Given the description of an element on the screen output the (x, y) to click on. 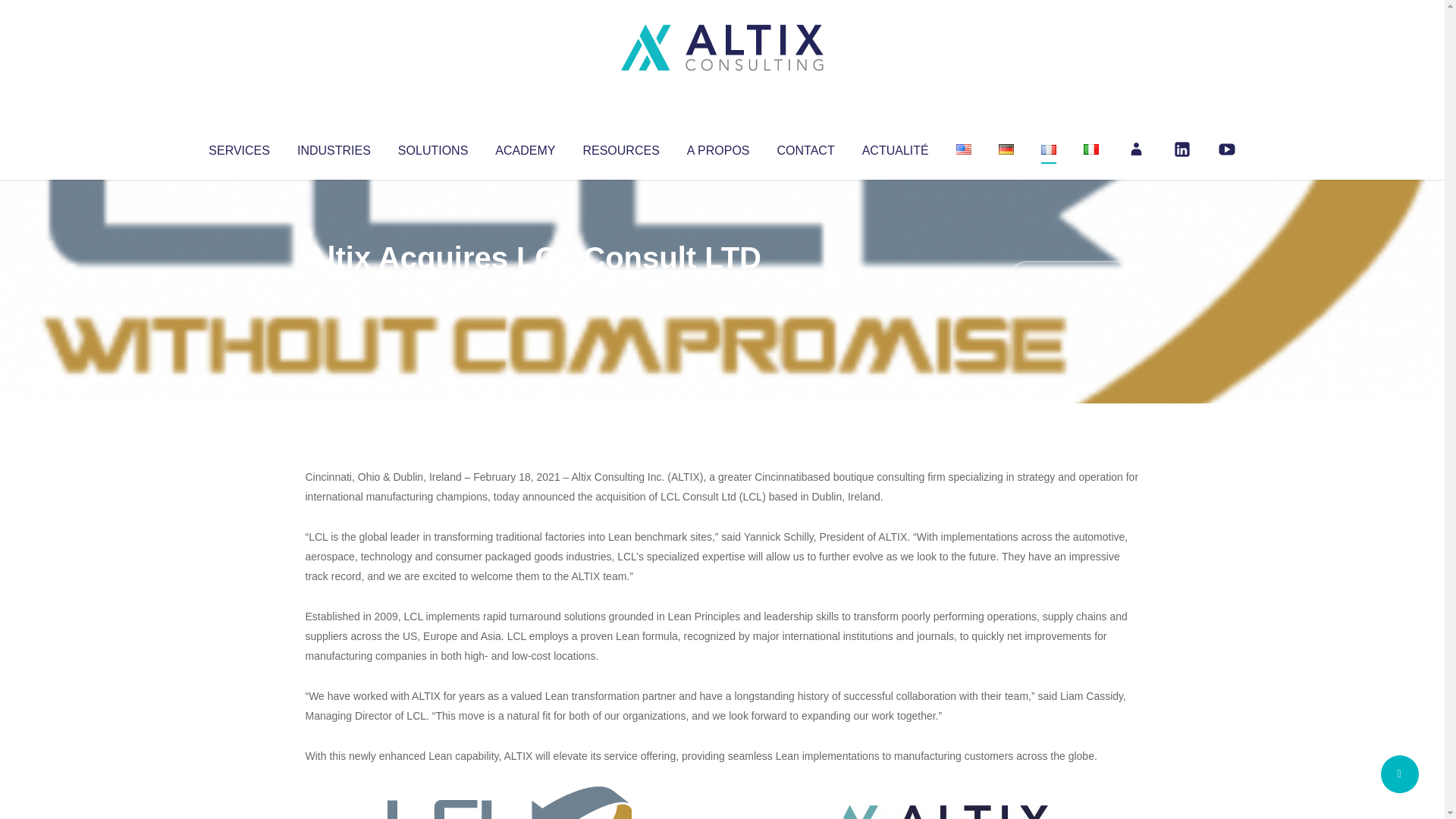
Altix (333, 287)
A PROPOS (718, 146)
ACADEMY (524, 146)
SOLUTIONS (432, 146)
No Comments (1073, 278)
INDUSTRIES (334, 146)
Uncategorized (530, 287)
RESOURCES (620, 146)
SERVICES (238, 146)
Articles par Altix (333, 287)
